Given the description of an element on the screen output the (x, y) to click on. 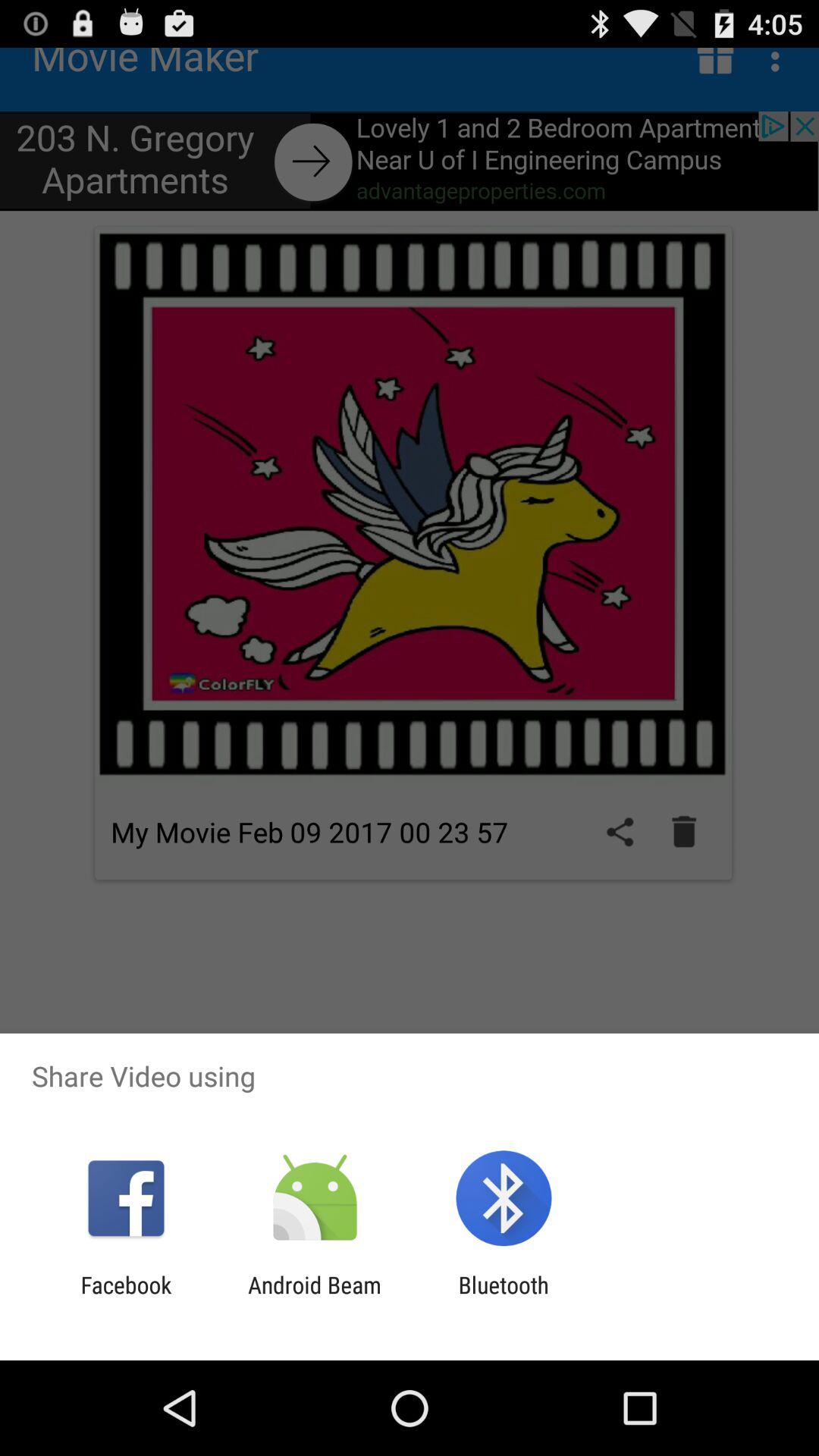
open android beam app (314, 1298)
